Given the description of an element on the screen output the (x, y) to click on. 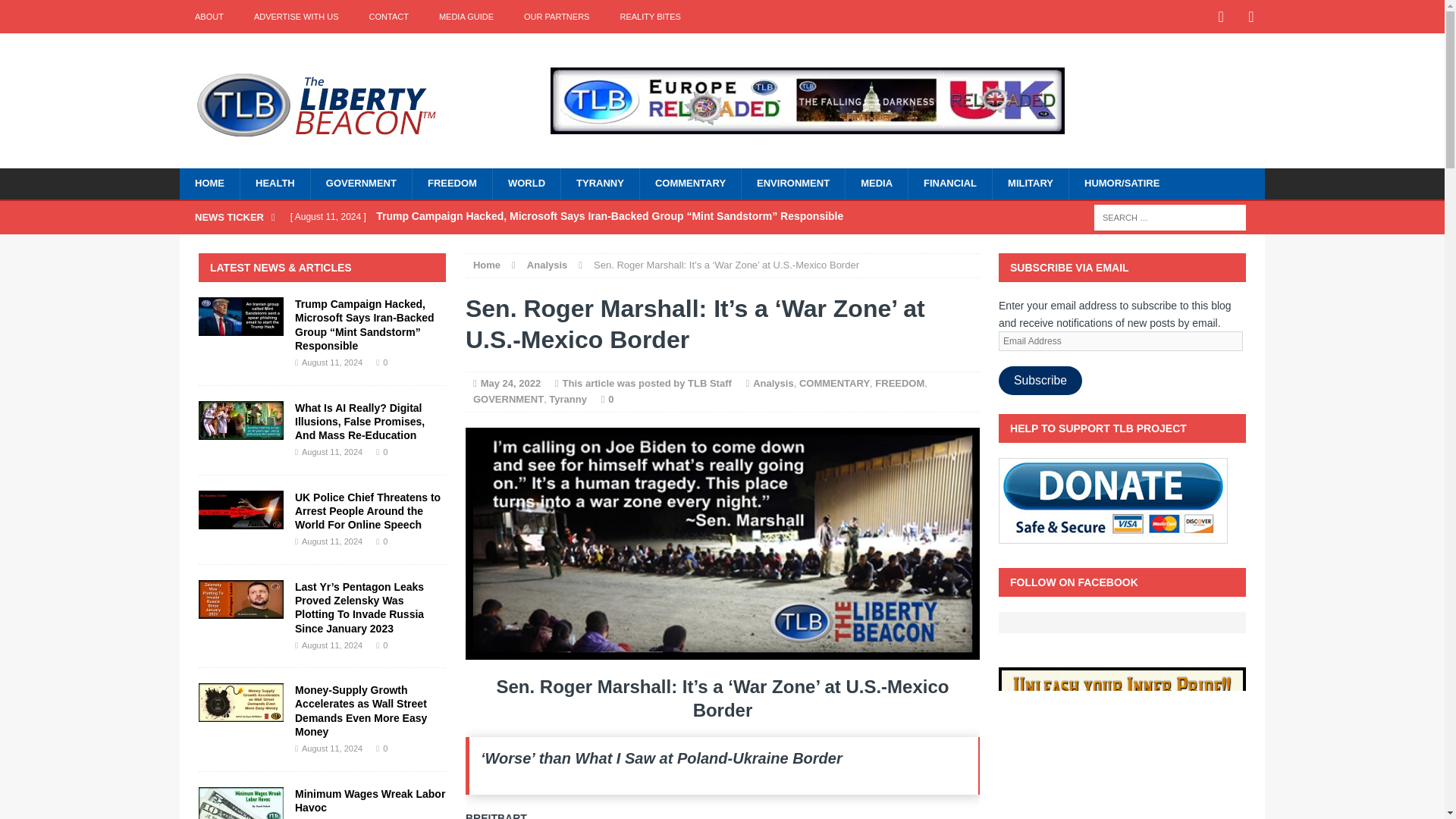
TYRANNY (599, 183)
GOVERNMENT (508, 398)
FINANCIAL (949, 183)
Home (486, 265)
Tyranny (567, 398)
MEDIA GUIDE (465, 16)
ABOUT (208, 16)
CONTACT (388, 16)
HOME (209, 183)
COMMENTARY (690, 183)
